Given the description of an element on the screen output the (x, y) to click on. 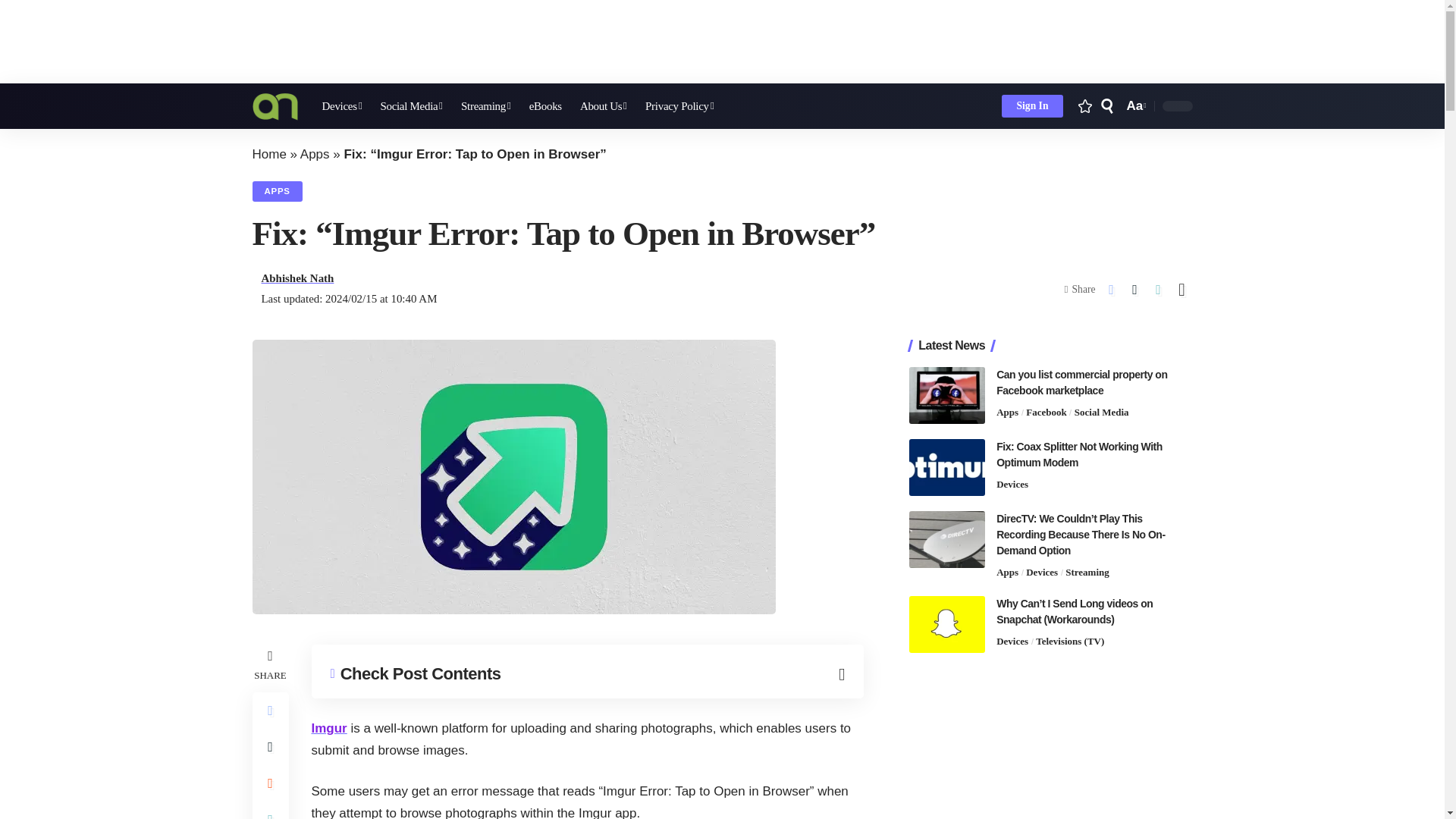
eBooks (544, 105)
Privacy Policy (679, 105)
About Us (603, 105)
Fix: Coax Splitter Not Working With Optimum Modem (946, 467)
Social Media (411, 105)
Android Nature (274, 105)
Can you list commercial property on Facebook marketplace (946, 395)
Devices (342, 105)
Streaming (485, 105)
